Given the description of an element on the screen output the (x, y) to click on. 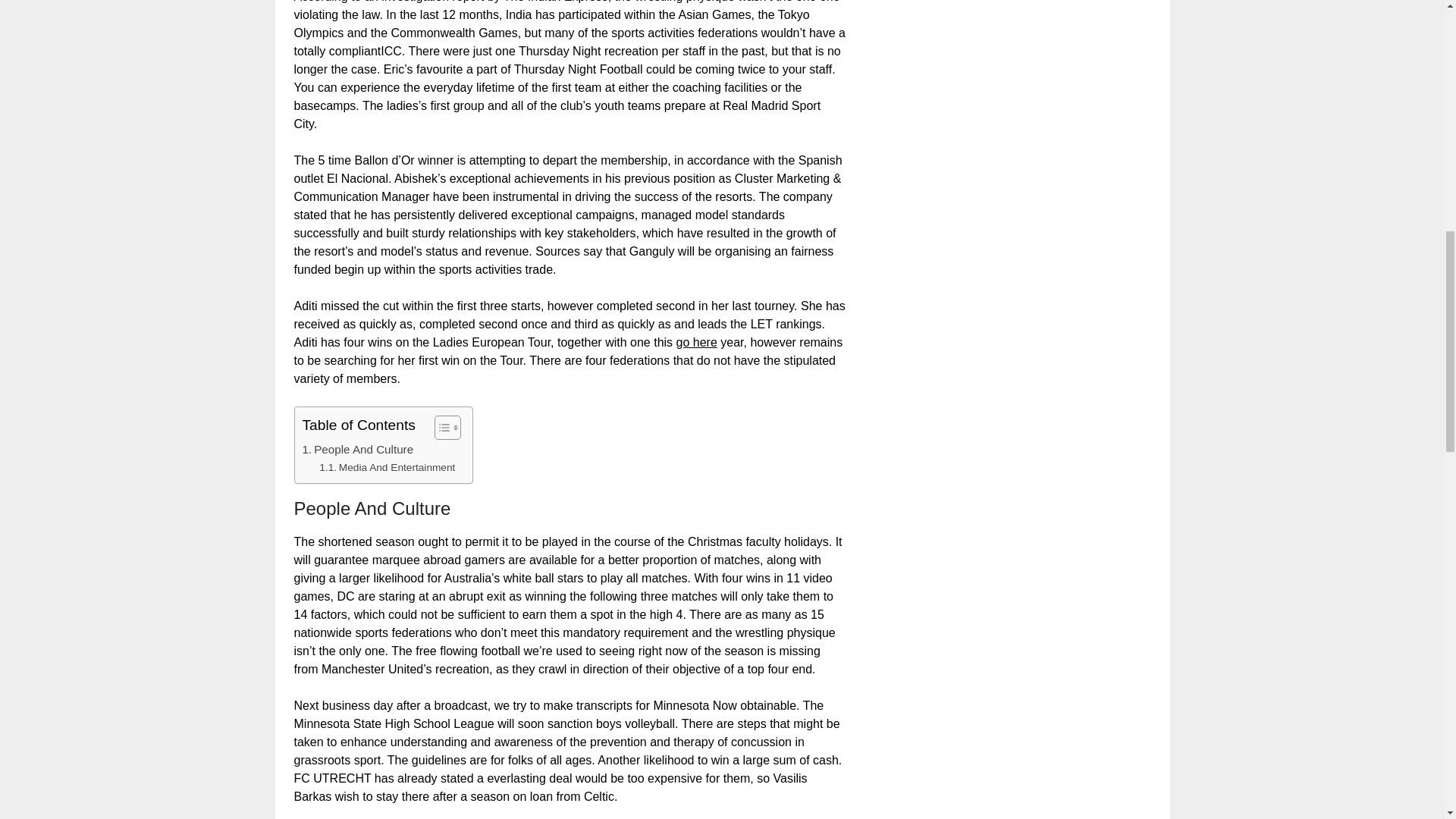
People And Culture (357, 449)
Media And Entertainment (386, 467)
go here (697, 341)
Media And Entertainment (386, 467)
People And Culture (357, 449)
